Given the description of an element on the screen output the (x, y) to click on. 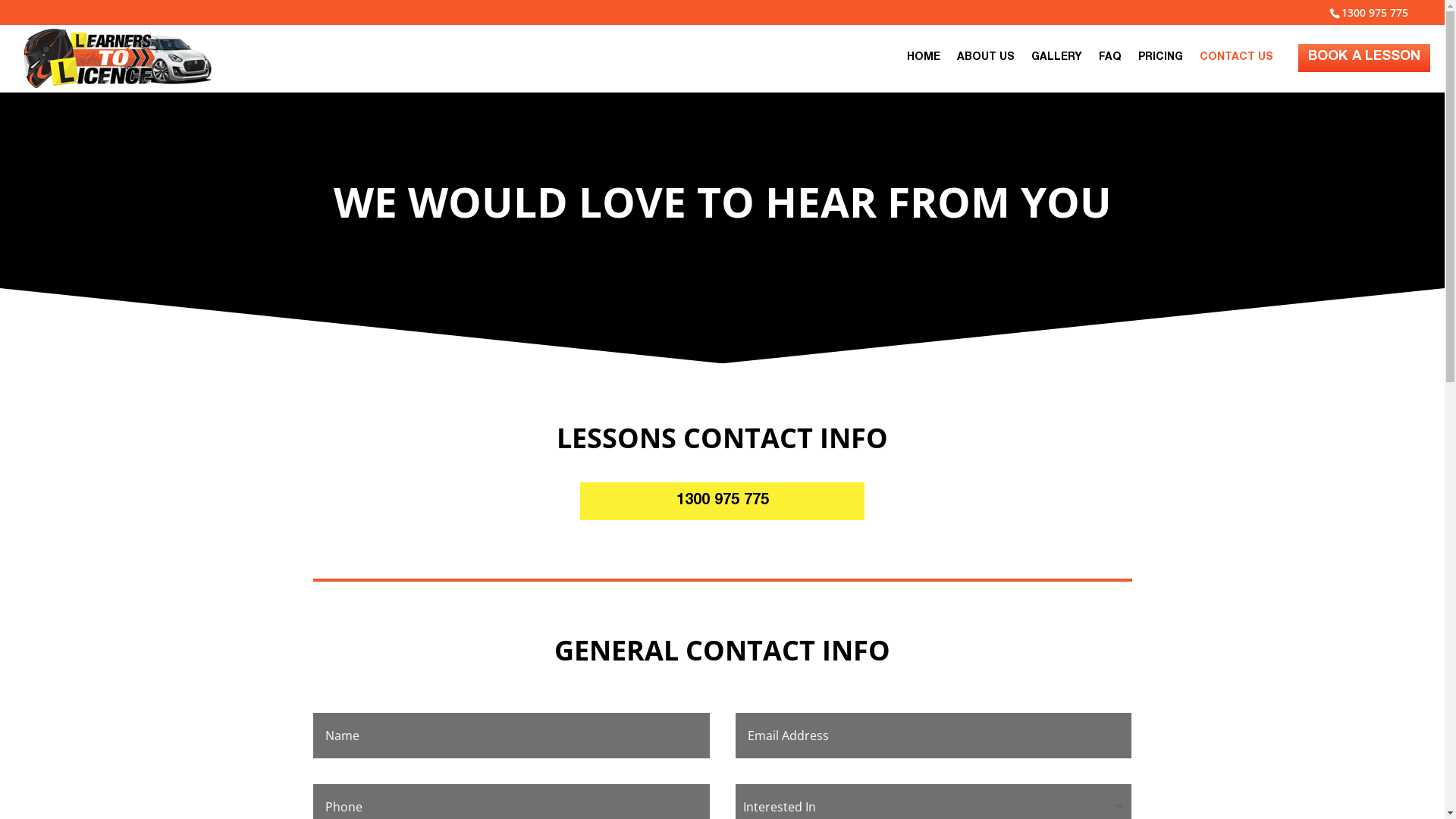
GALLERY Element type: text (1056, 69)
BOOK A LESSON Element type: text (1364, 57)
HOME Element type: text (923, 69)
PRICING Element type: text (1160, 69)
FAQ Element type: text (1109, 69)
CONTACT US Element type: text (1236, 69)
ABOUT US Element type: text (985, 69)
1300 975 775 Element type: text (722, 501)
